Given the description of an element on the screen output the (x, y) to click on. 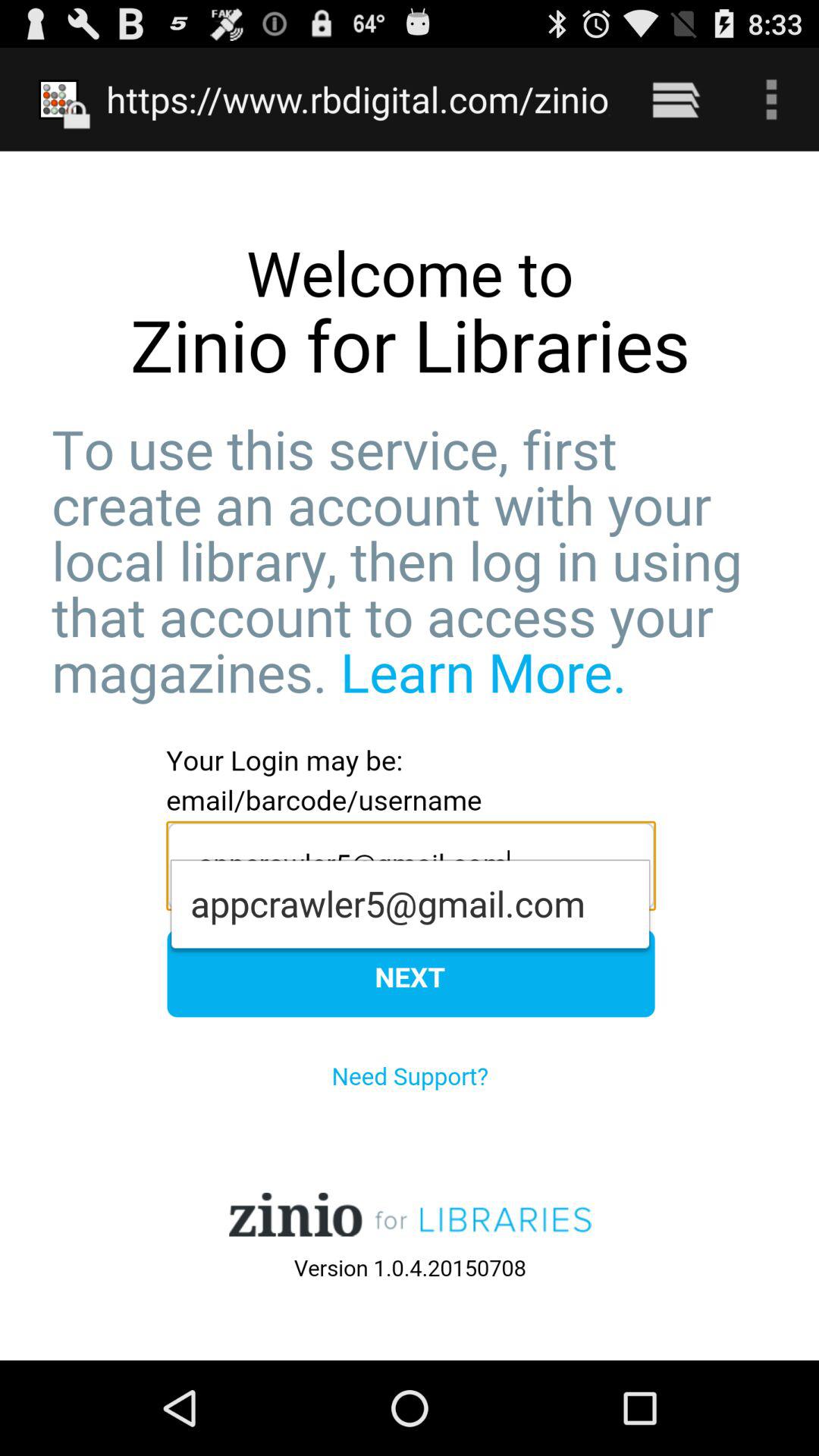
tap the icon to the right of https www rbdigital icon (675, 99)
